Given the description of an element on the screen output the (x, y) to click on. 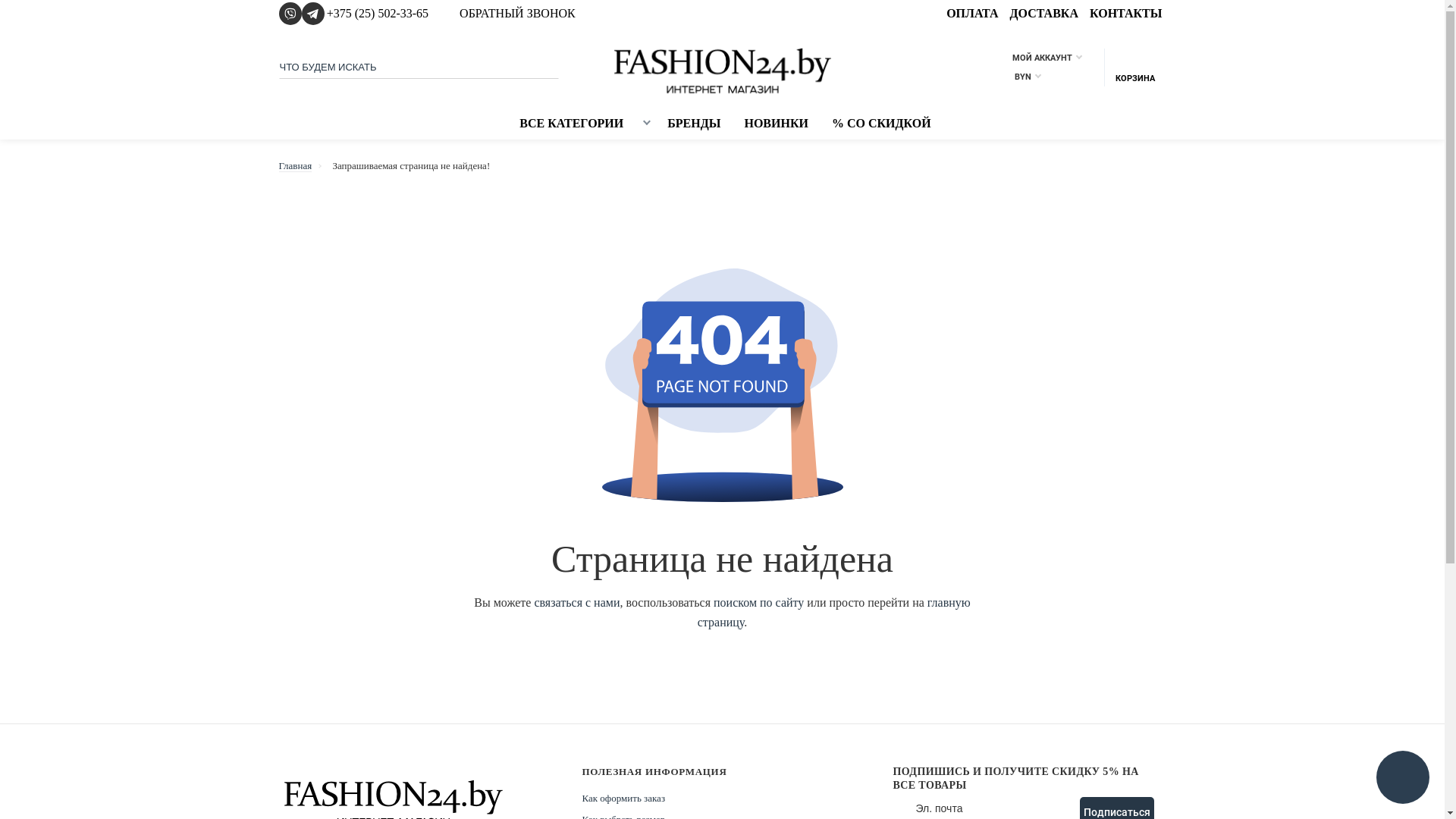
+375 (25) 502-33-65 Element type: text (383, 13)
BYN Element type: text (1017, 76)
